Given the description of an element on the screen output the (x, y) to click on. 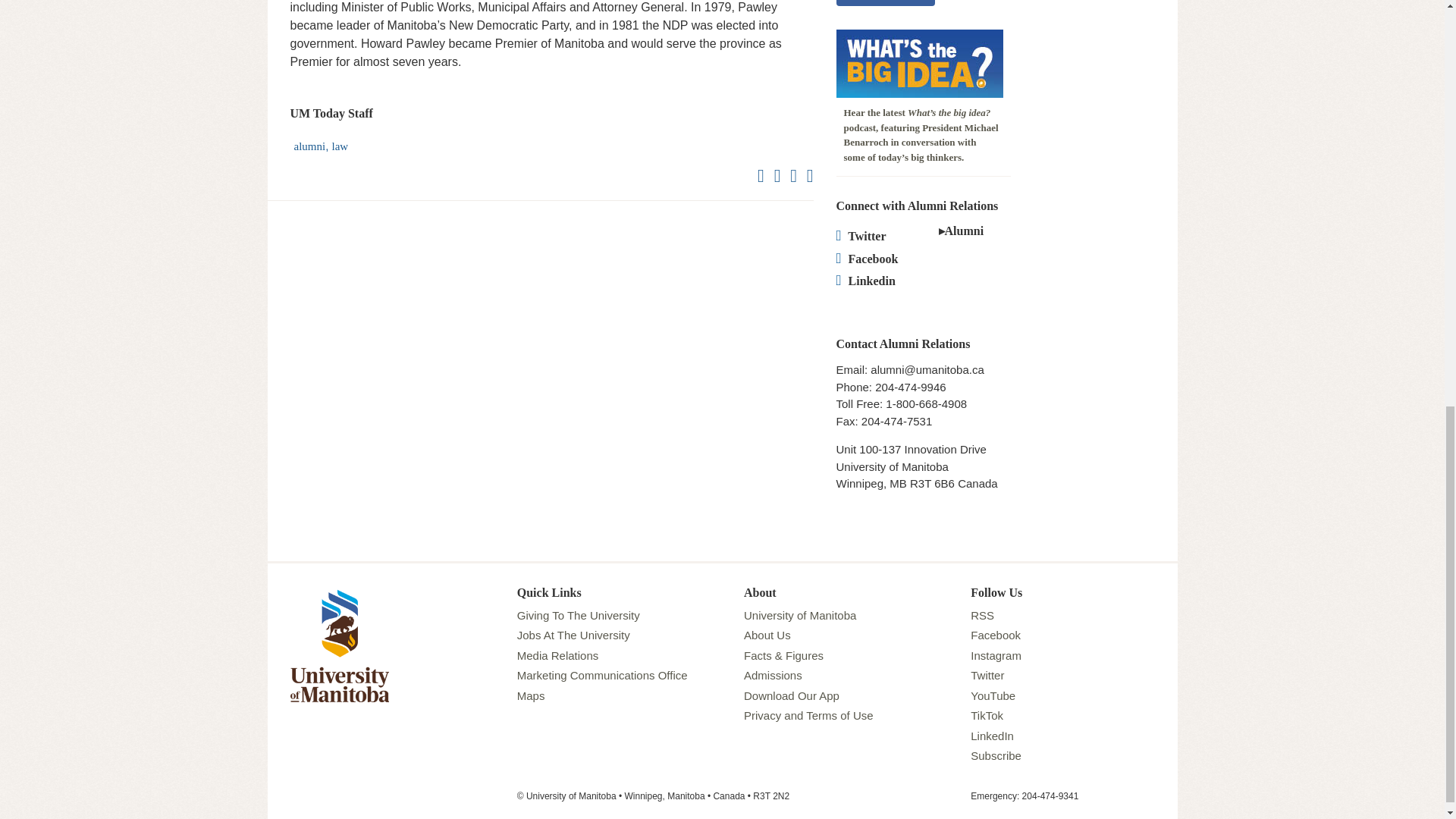
University of Manitoba (338, 591)
